Given the description of an element on the screen output the (x, y) to click on. 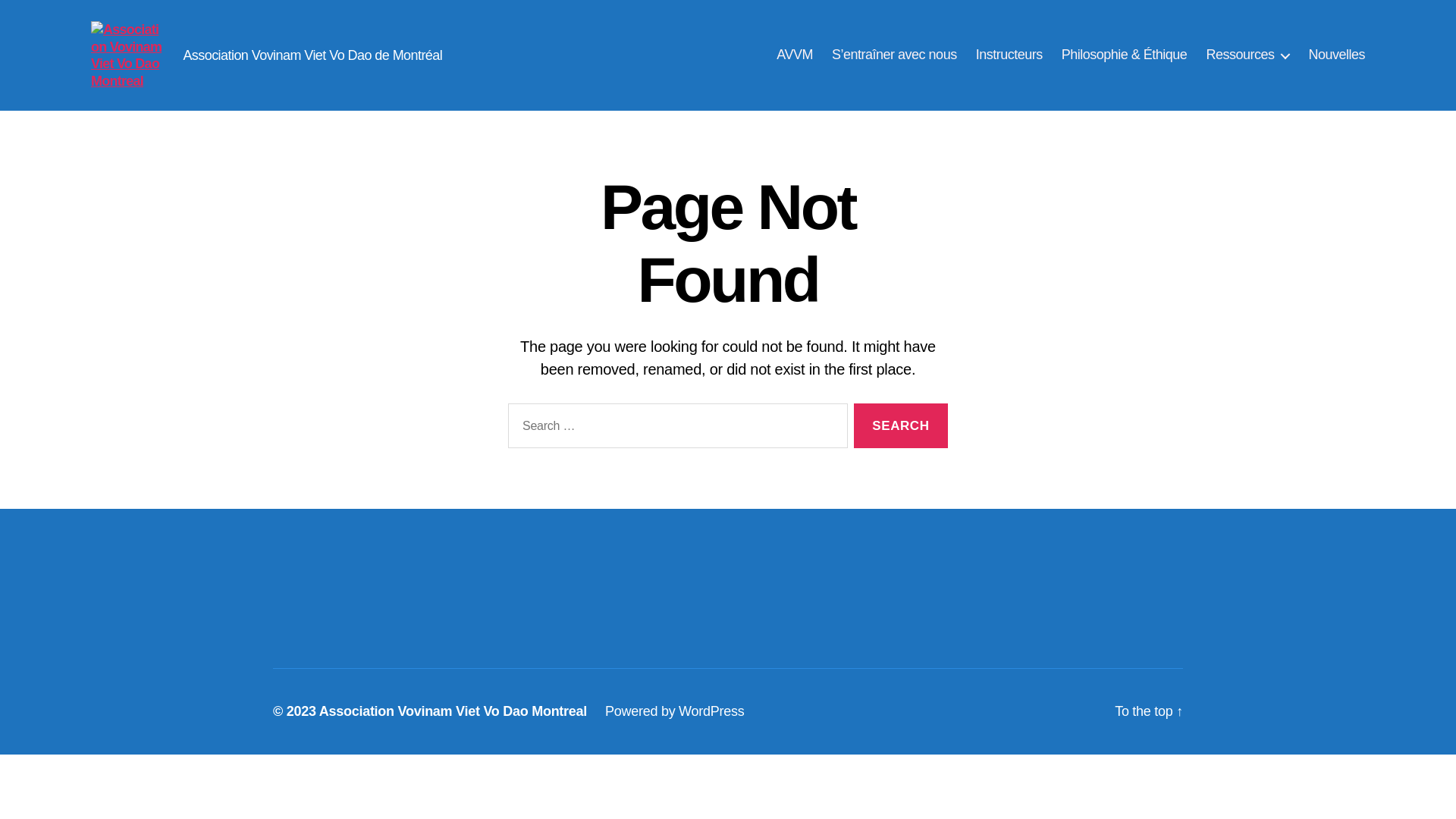
Instructeurs Element type: text (1008, 55)
Search Element type: text (900, 425)
Ressources Element type: text (1247, 55)
AVVM Element type: text (794, 55)
Nouvelles Element type: text (1336, 55)
Association Vovinam Viet Vo Dao Montreal Element type: text (452, 710)
Powered by WordPress Element type: text (674, 710)
